Given the description of an element on the screen output the (x, y) to click on. 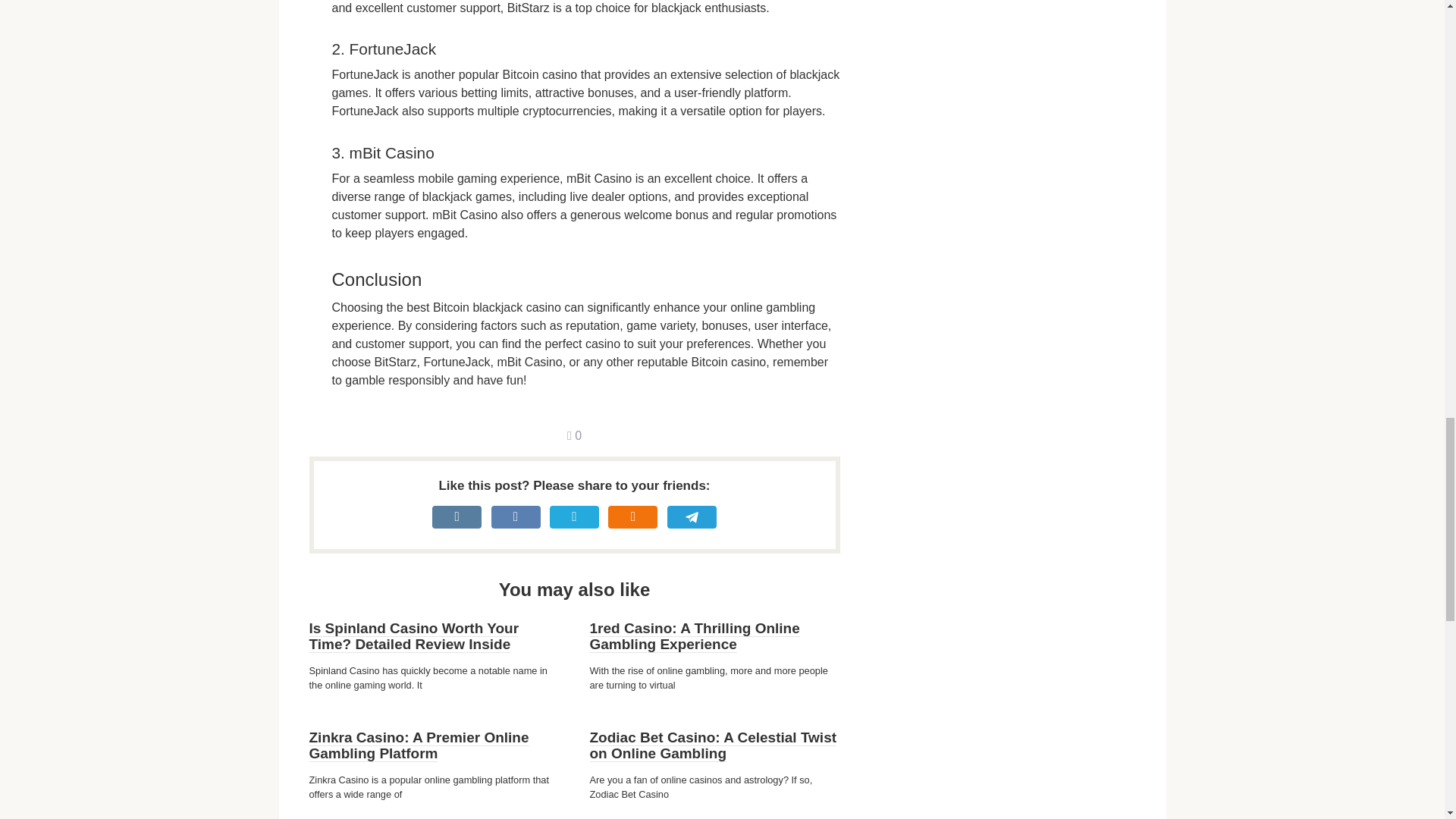
Zinkra Casino: A Premier Online Gambling Platform (418, 745)
1red Casino: A Thrilling Online Gambling Experience (694, 635)
Is Spinland Casino Worth Your Time? Detailed Review Inside (413, 635)
Zodiac Bet Casino: A Celestial Twist on Online Gambling (713, 745)
Comments (573, 435)
